Given the description of an element on the screen output the (x, y) to click on. 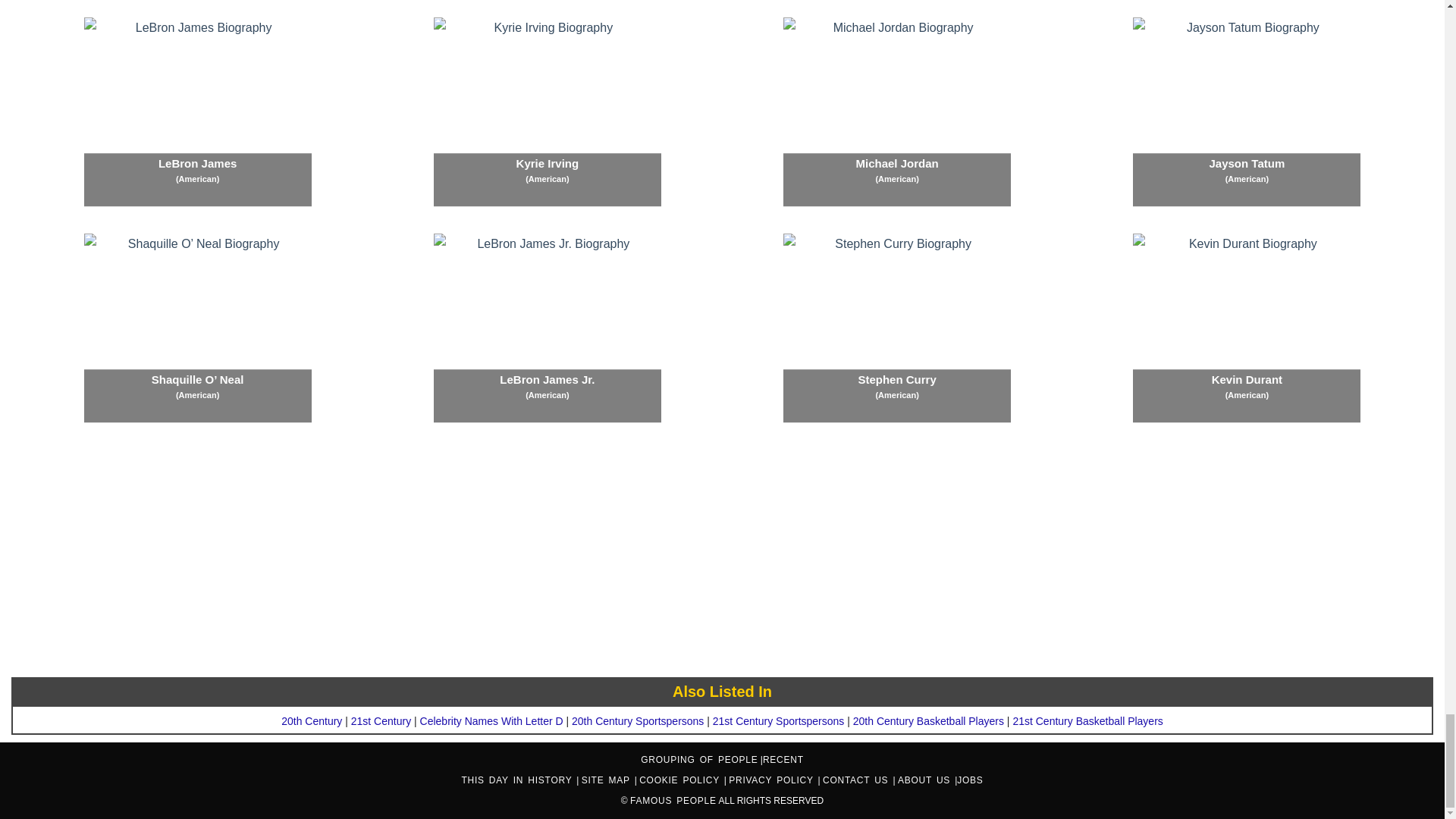
Jayson Tatum (1245, 112)
LeBron James (197, 112)
Kevin Durant (1245, 328)
LeBron James Jr. (547, 328)
Michael Jordan (896, 112)
Stephen Curry (896, 328)
Kyrie Irving (547, 112)
